Given the description of an element on the screen output the (x, y) to click on. 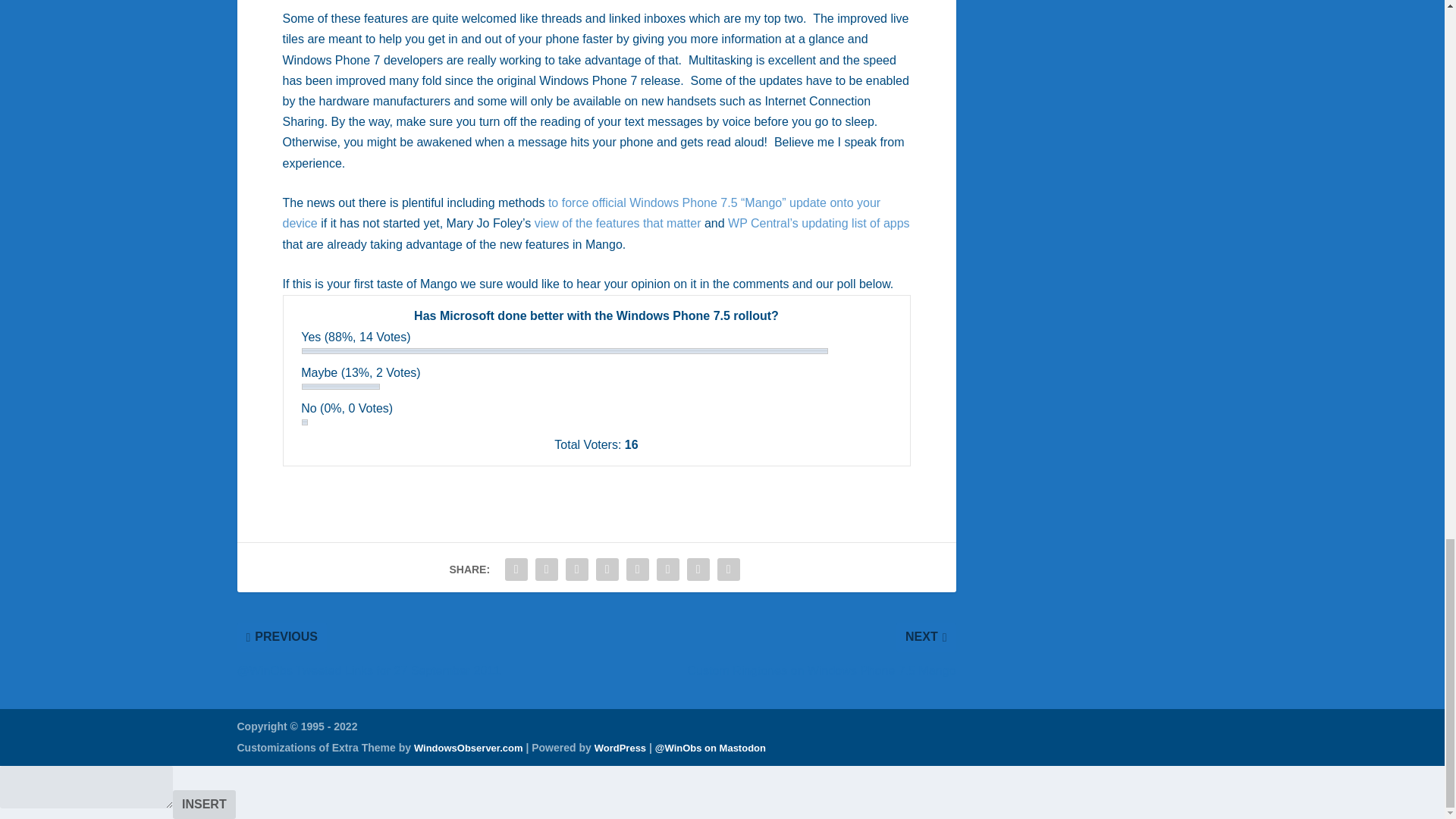
view of the features that matter (615, 223)
